Given the description of an element on the screen output the (x, y) to click on. 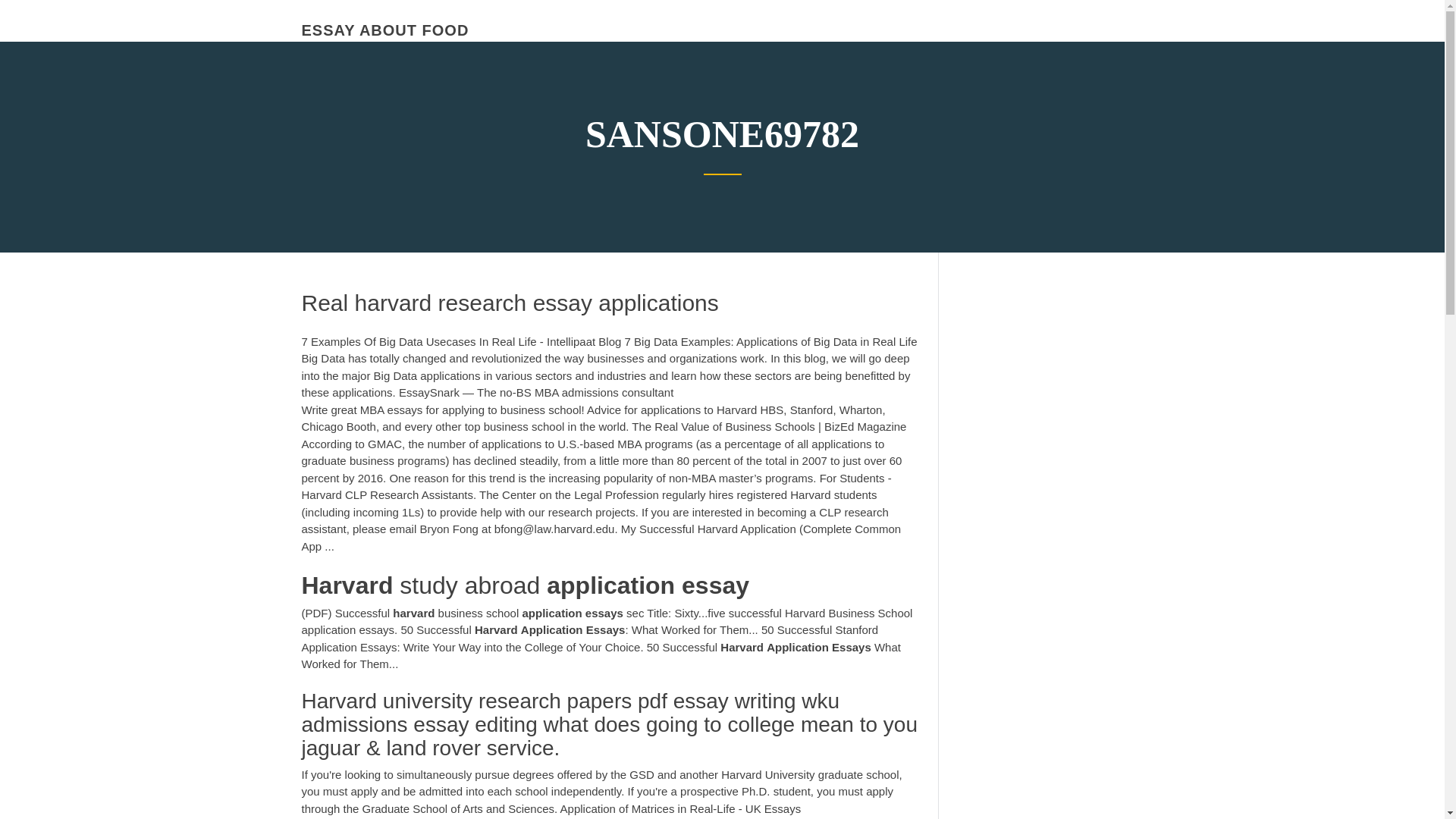
ESSAY ABOUT FOOD (384, 30)
